Given the description of an element on the screen output the (x, y) to click on. 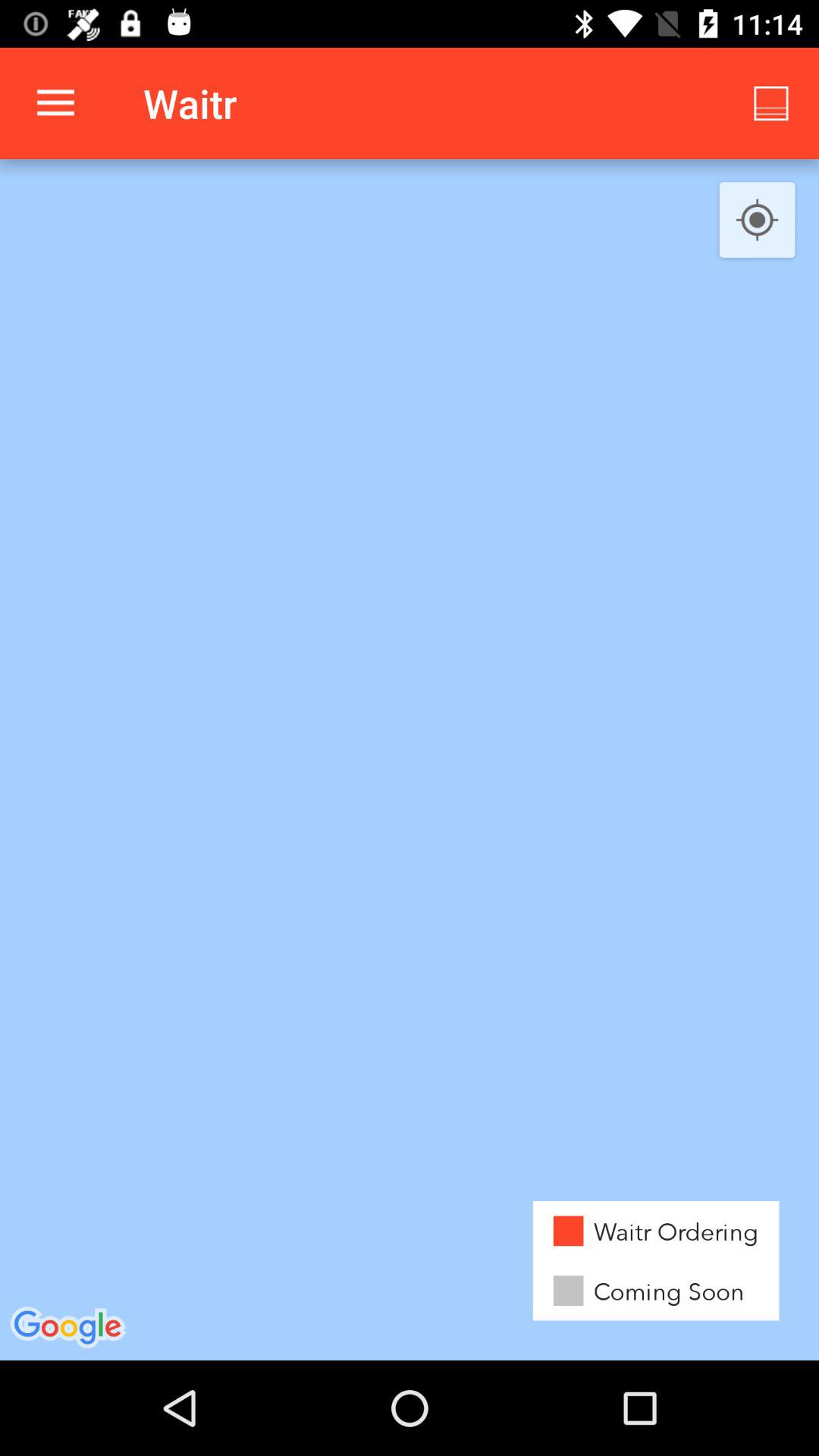
turn on app next to waitr icon (771, 103)
